Given the description of an element on the screen output the (x, y) to click on. 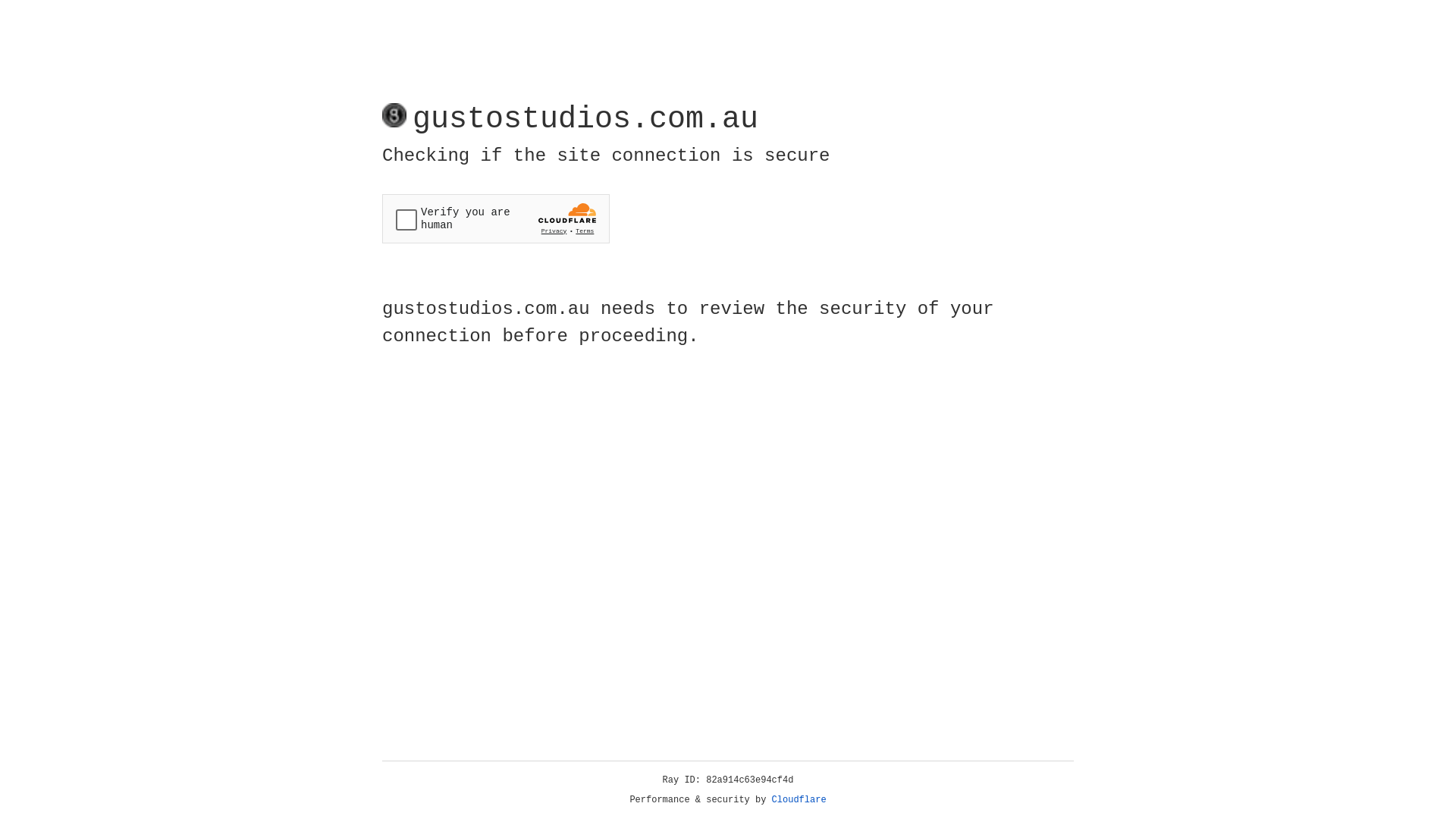
Cloudflare Element type: text (798, 799)
Widget containing a Cloudflare security challenge Element type: hover (495, 218)
